Given the description of an element on the screen output the (x, y) to click on. 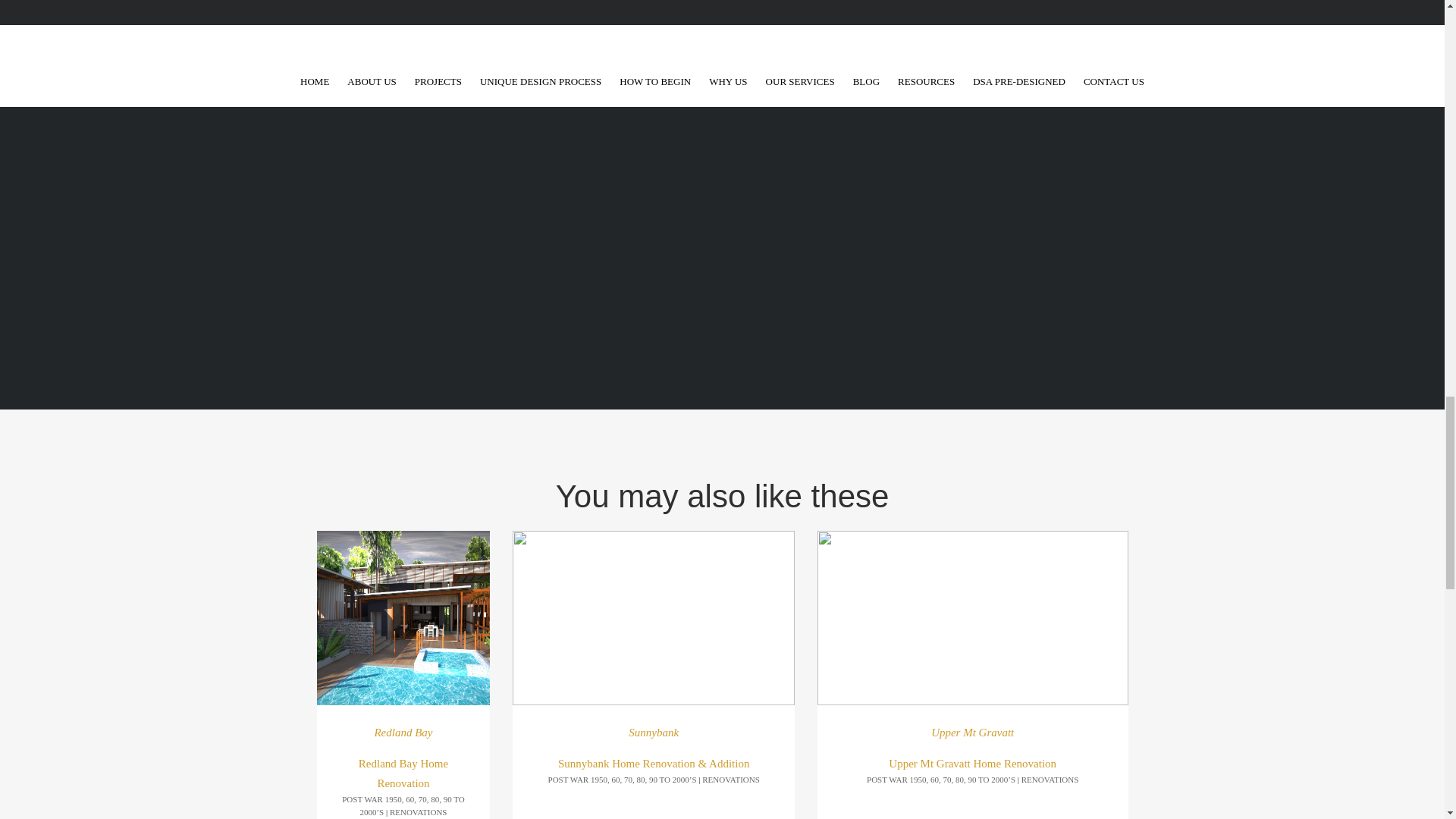
Upper Mt Gravatt Home Renovation (972, 617)
Redland Bay Home Renovation (403, 773)
Redland Bay Home Renovation (403, 617)
Upper Mt Gravatt Home Renovation (972, 763)
